Given the description of an element on the screen output the (x, y) to click on. 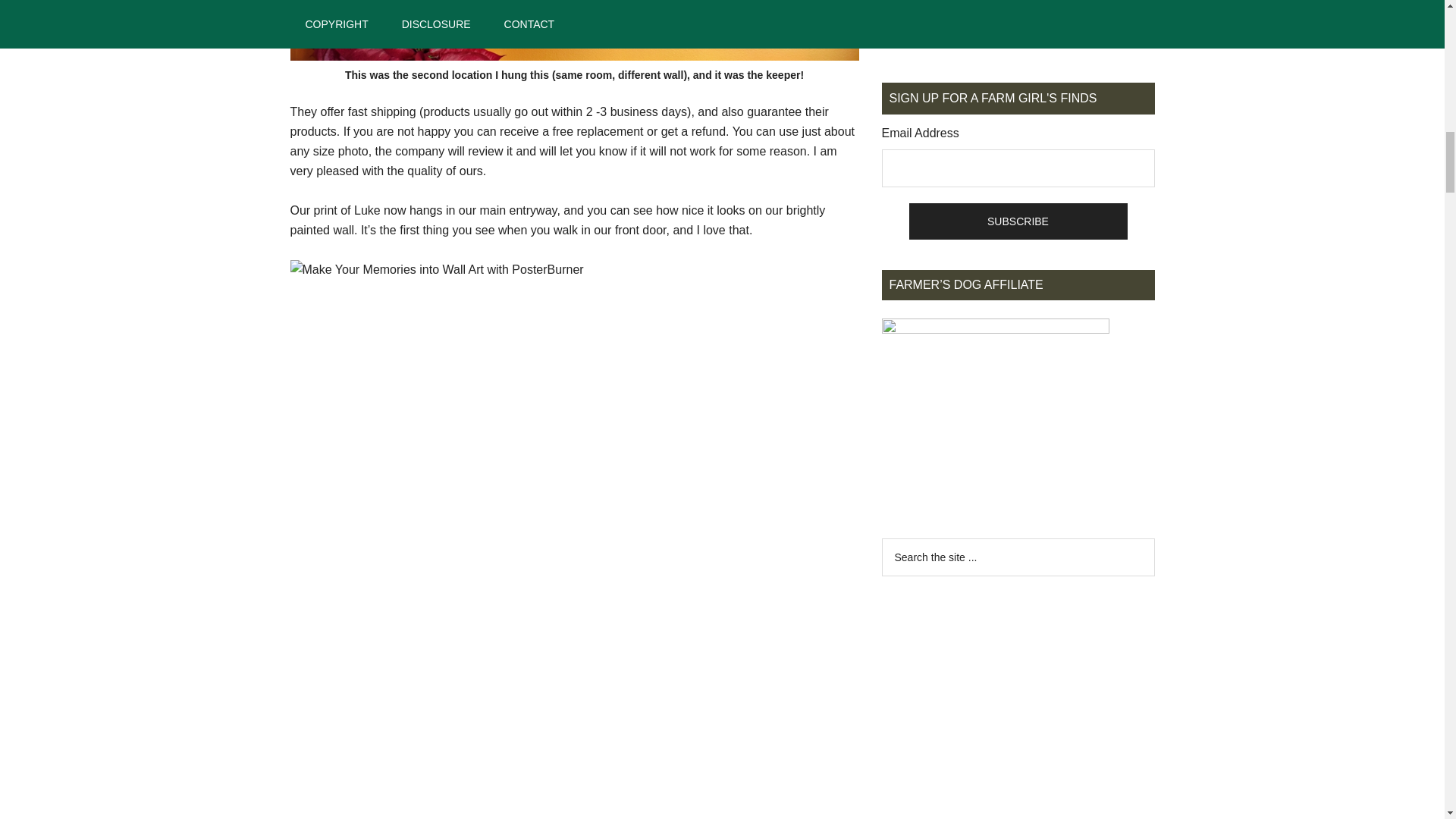
Subscribe (1017, 221)
